Given the description of an element on the screen output the (x, y) to click on. 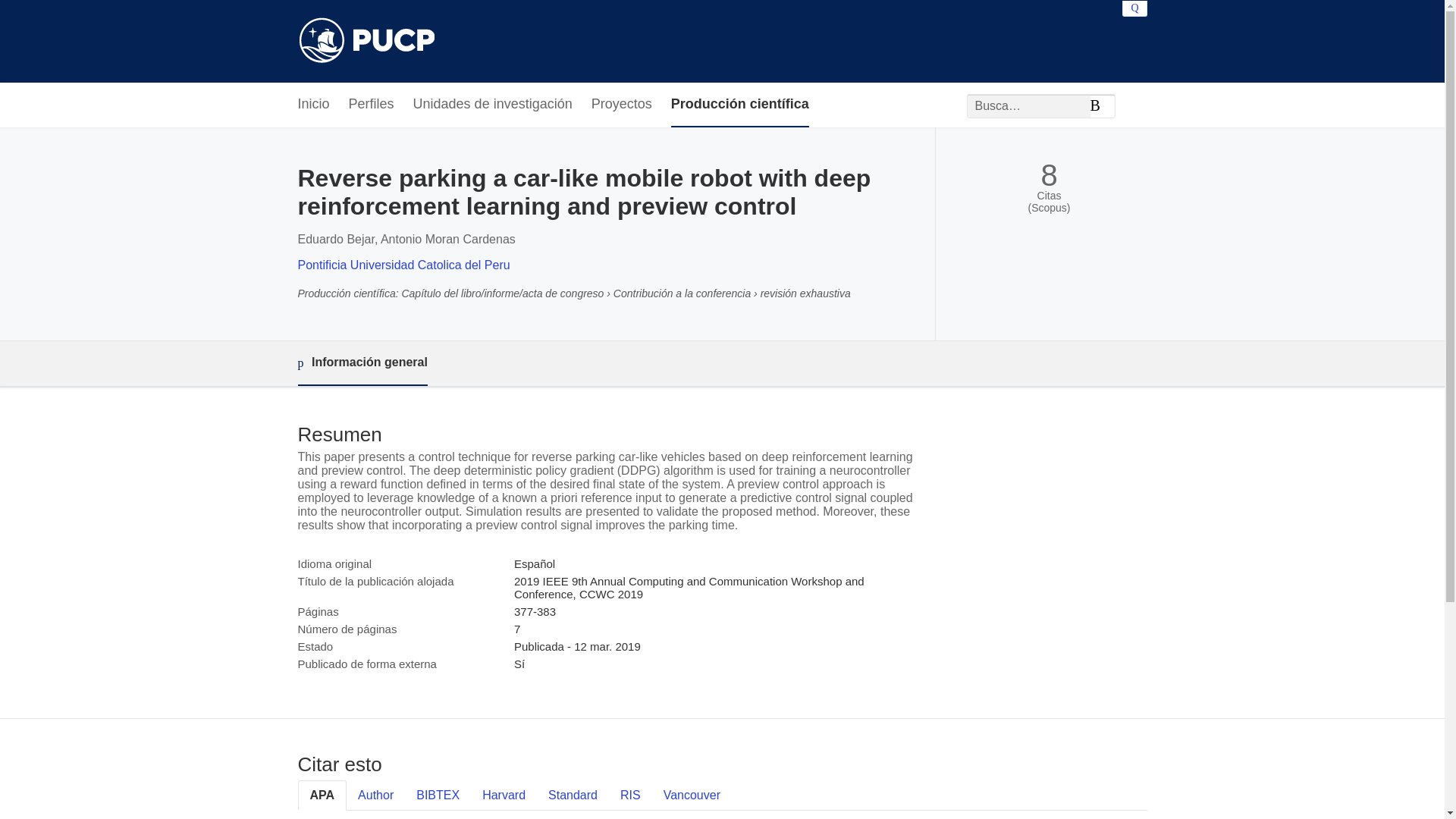
Pontificia Universidad Catolica del Peru (403, 264)
Perfiles (371, 104)
Proyectos (621, 104)
